Given the description of an element on the screen output the (x, y) to click on. 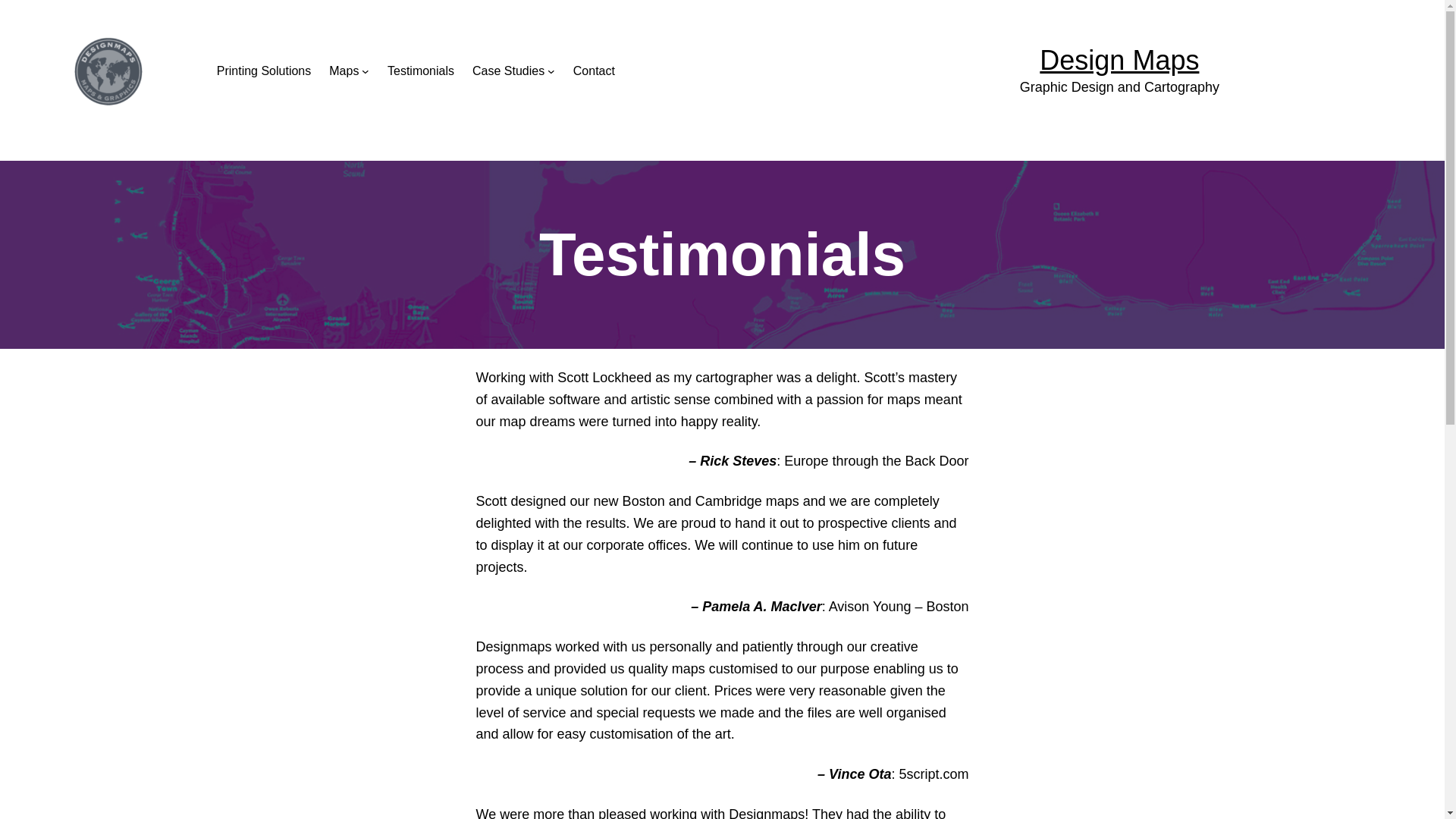
Printing Solutions (263, 71)
Case Studies (507, 71)
Design Maps (1118, 60)
Testimonials (420, 71)
Contact (593, 71)
Maps (343, 71)
